Given the description of an element on the screen output the (x, y) to click on. 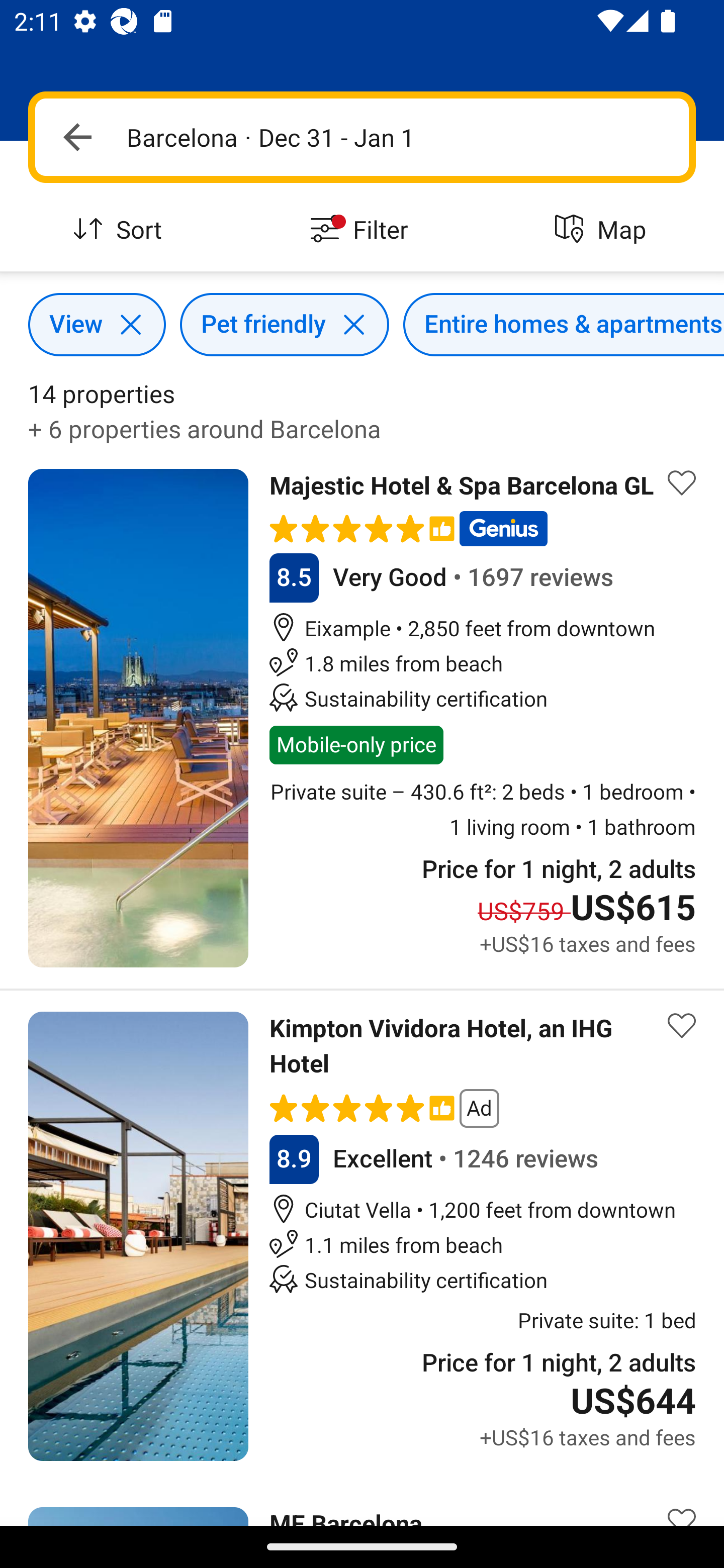
Navigate up Barcelona · Dec 31 - Jan 1 (362, 136)
Navigate up (77, 136)
Sort (120, 230)
Filter (361, 230)
Map (603, 230)
Save property to list (681, 482)
Save property to list (681, 1025)
Save property to list (681, 1501)
